Given the description of an element on the screen output the (x, y) to click on. 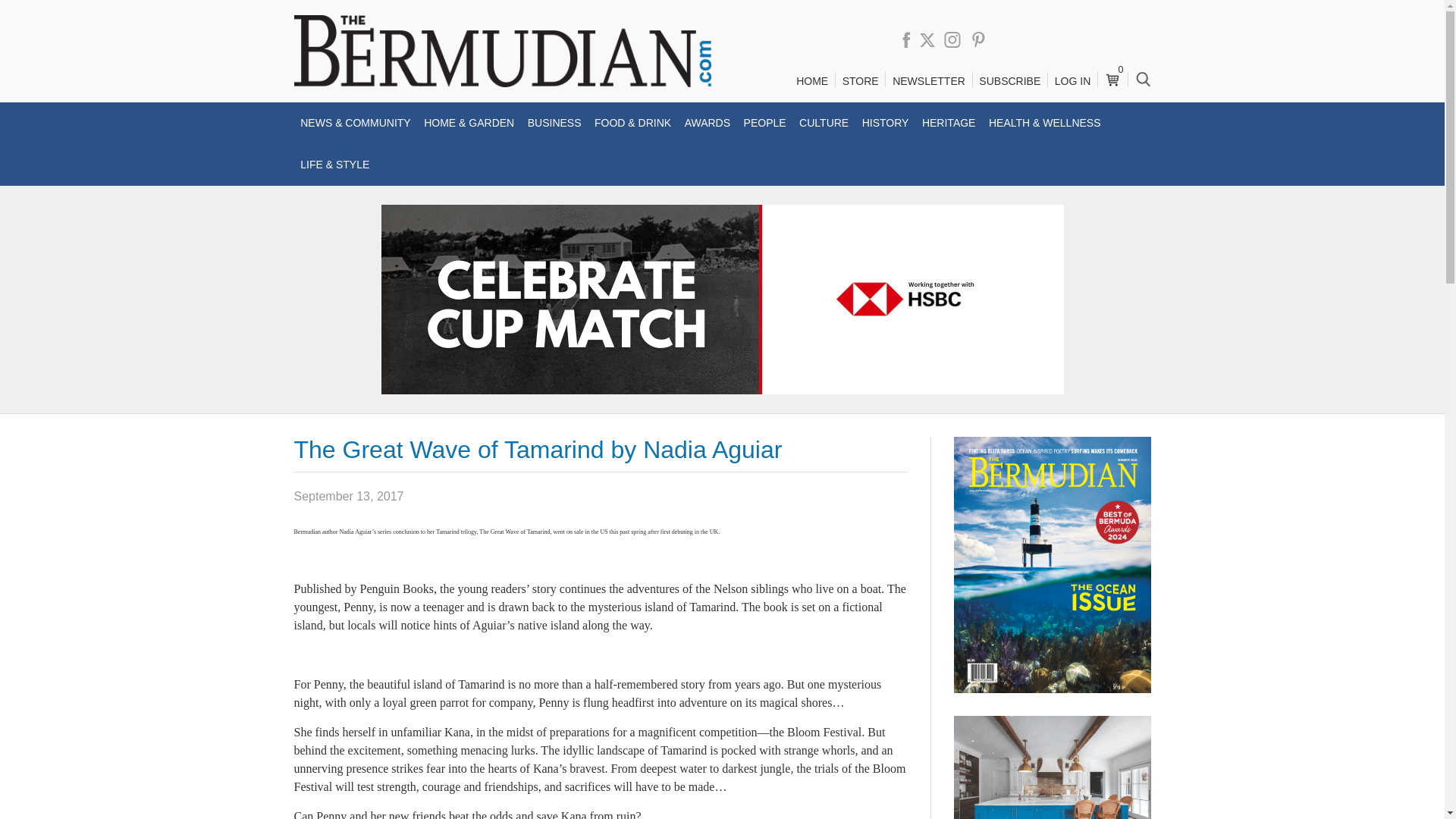
CULTURE (824, 123)
0 (1111, 75)
HERITAGE (948, 123)
NEWSLETTER (928, 81)
HISTORY (885, 123)
HOME (811, 81)
BUSINESS (554, 123)
STORE (860, 81)
PEOPLE (764, 123)
AWARDS (707, 123)
LOG IN (1072, 81)
SUBSCRIBE (1009, 81)
